Given the description of an element on the screen output the (x, y) to click on. 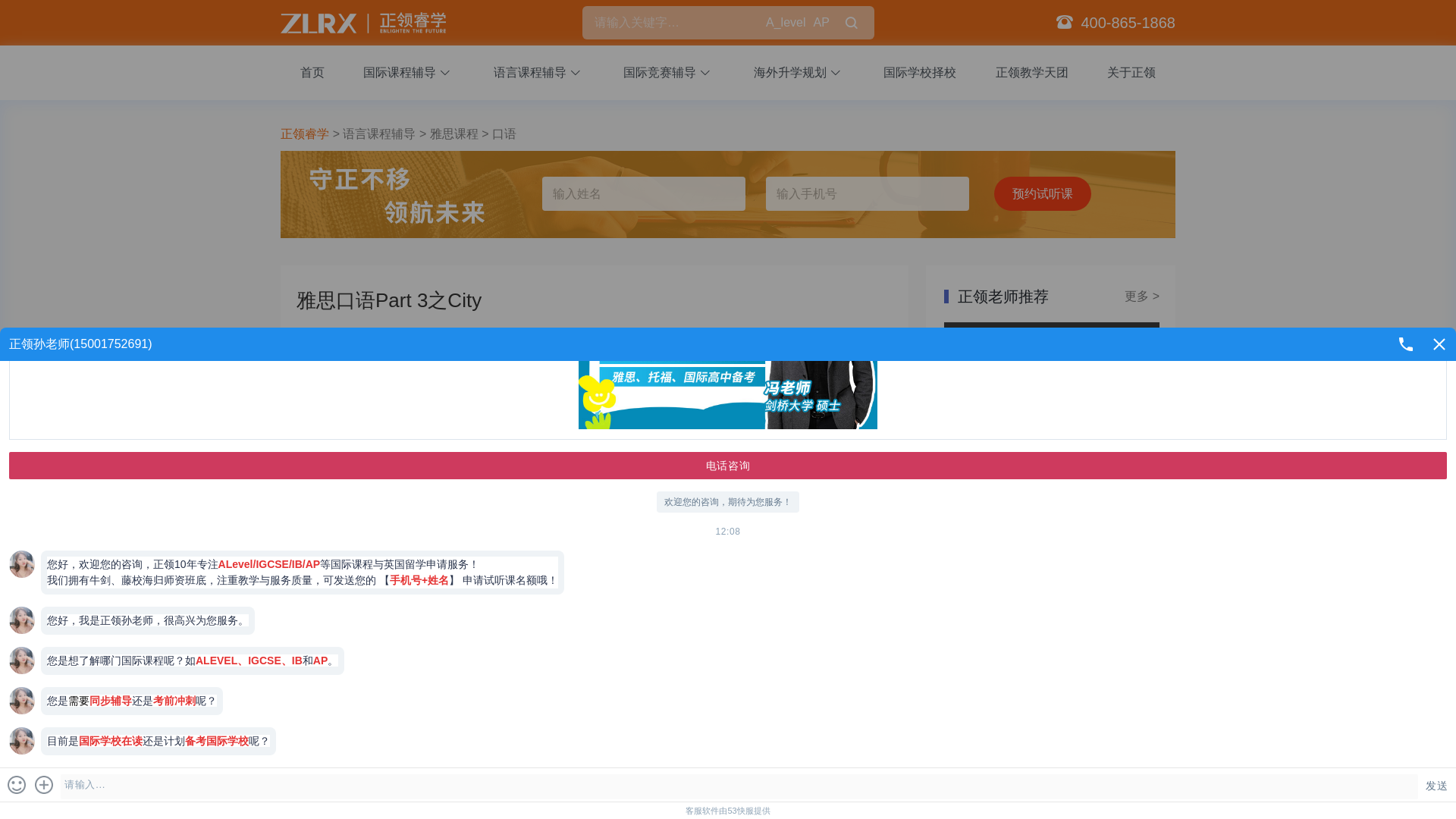
AP (820, 22)
400-865-1868 (1127, 23)
